Given the description of an element on the screen output the (x, y) to click on. 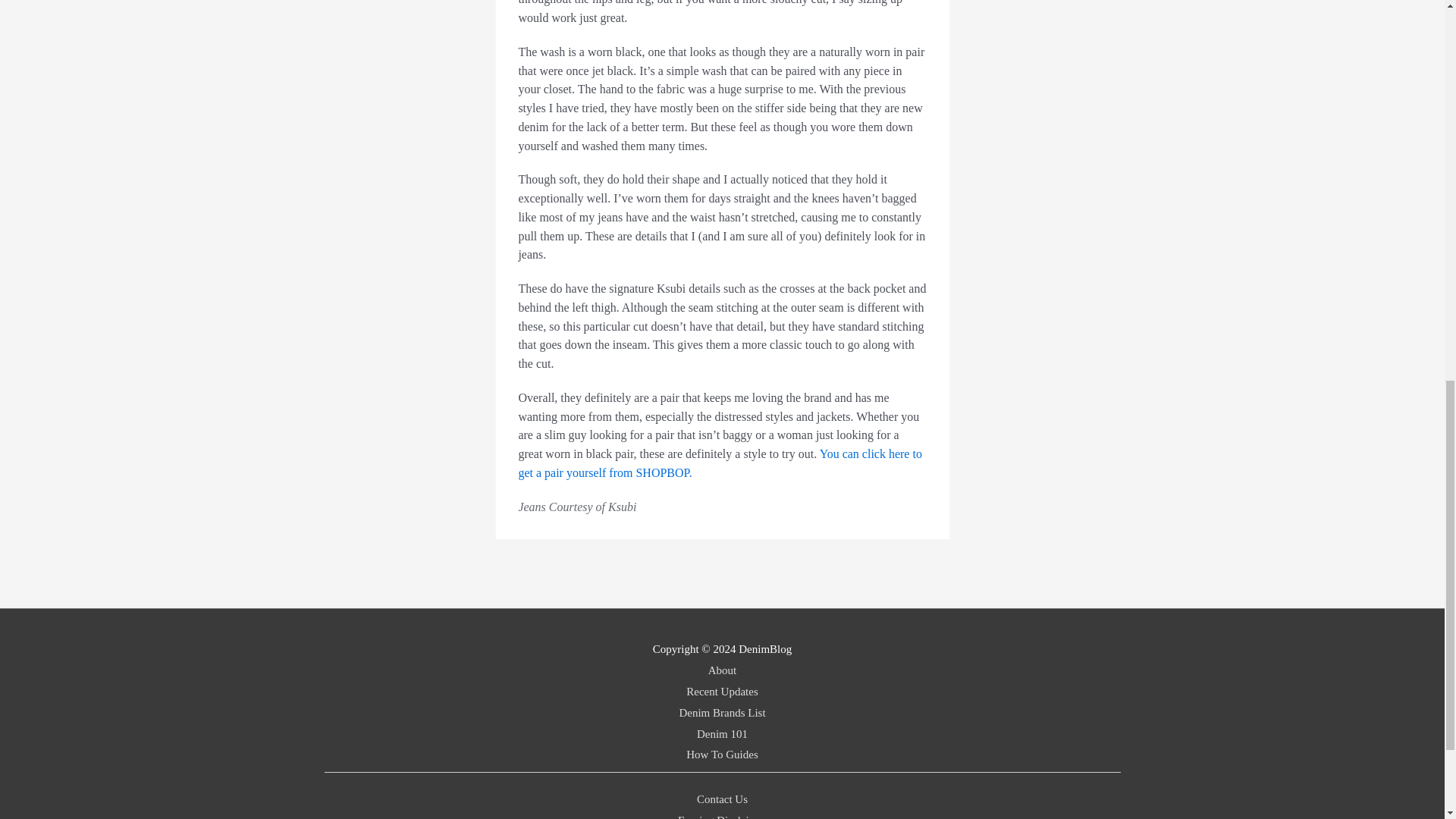
Earning Disclaimer (722, 816)
Denim 101 (722, 734)
About (721, 670)
Denim Brands List (721, 712)
How To Guides (721, 754)
Recent Updates (721, 691)
You can click here to get a pair yourself from SHOPBOP. (719, 463)
Contact Us (722, 799)
